Given the description of an element on the screen output the (x, y) to click on. 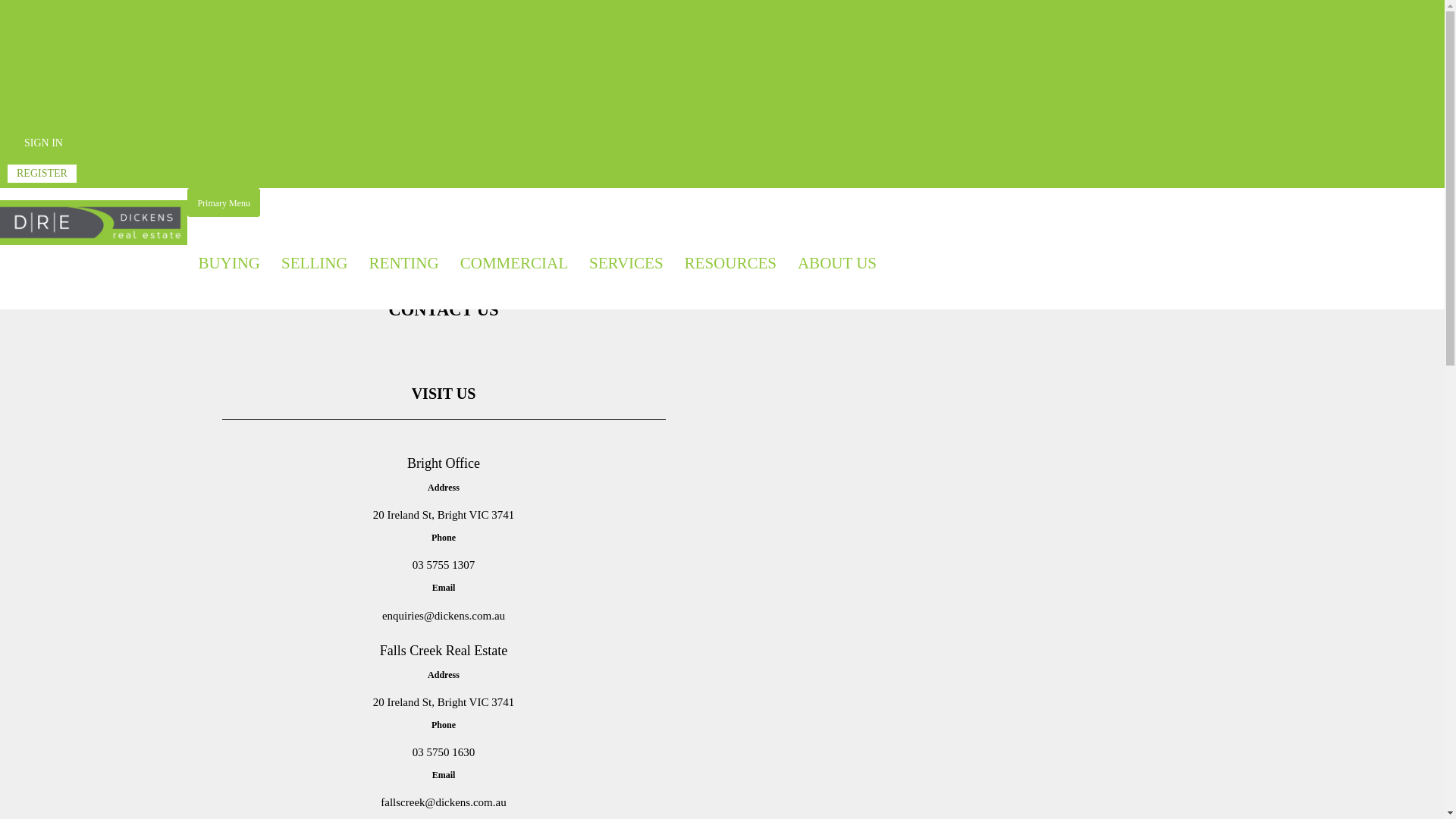
enquiries@dickens.com.au Element type: text (443, 615)
Primary Menu Element type: text (223, 202)
SERVICES Element type: text (626, 262)
BUYING Element type: text (228, 262)
03 5755 1307 Element type: text (443, 564)
RENTING Element type: text (403, 262)
03 5750 1630 Element type: text (443, 752)
COMMERCIAL Element type: text (513, 262)
SELLING Element type: text (314, 262)
REGISTER Element type: text (41, 173)
SIGN IN Element type: text (43, 143)
ABOUT US Element type: text (837, 262)
fallscreek@dickens.com.au Element type: text (442, 802)
RESOURCES Element type: text (730, 262)
